Given the description of an element on the screen output the (x, y) to click on. 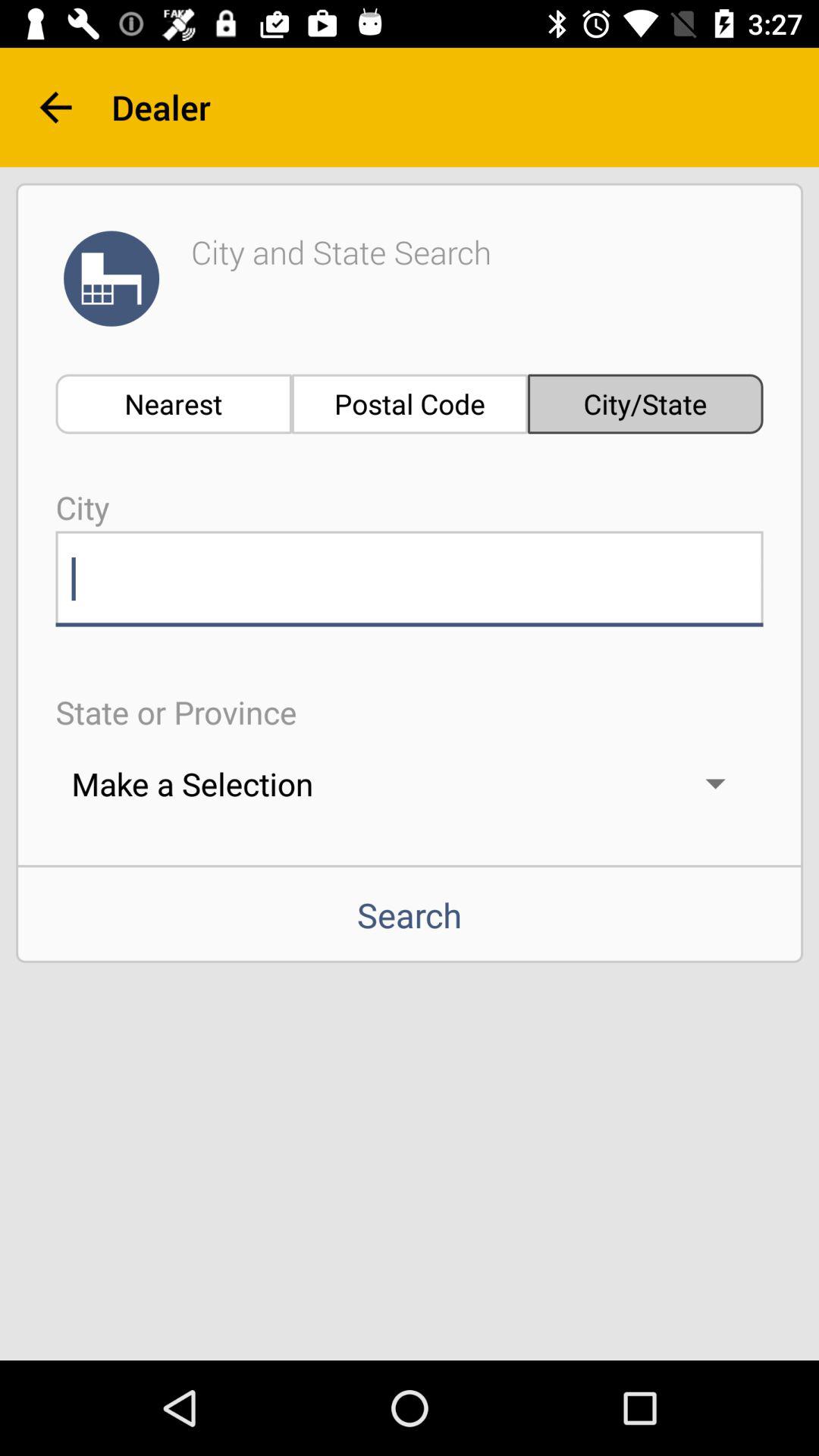
enter a city (409, 578)
